Given the description of an element on the screen output the (x, y) to click on. 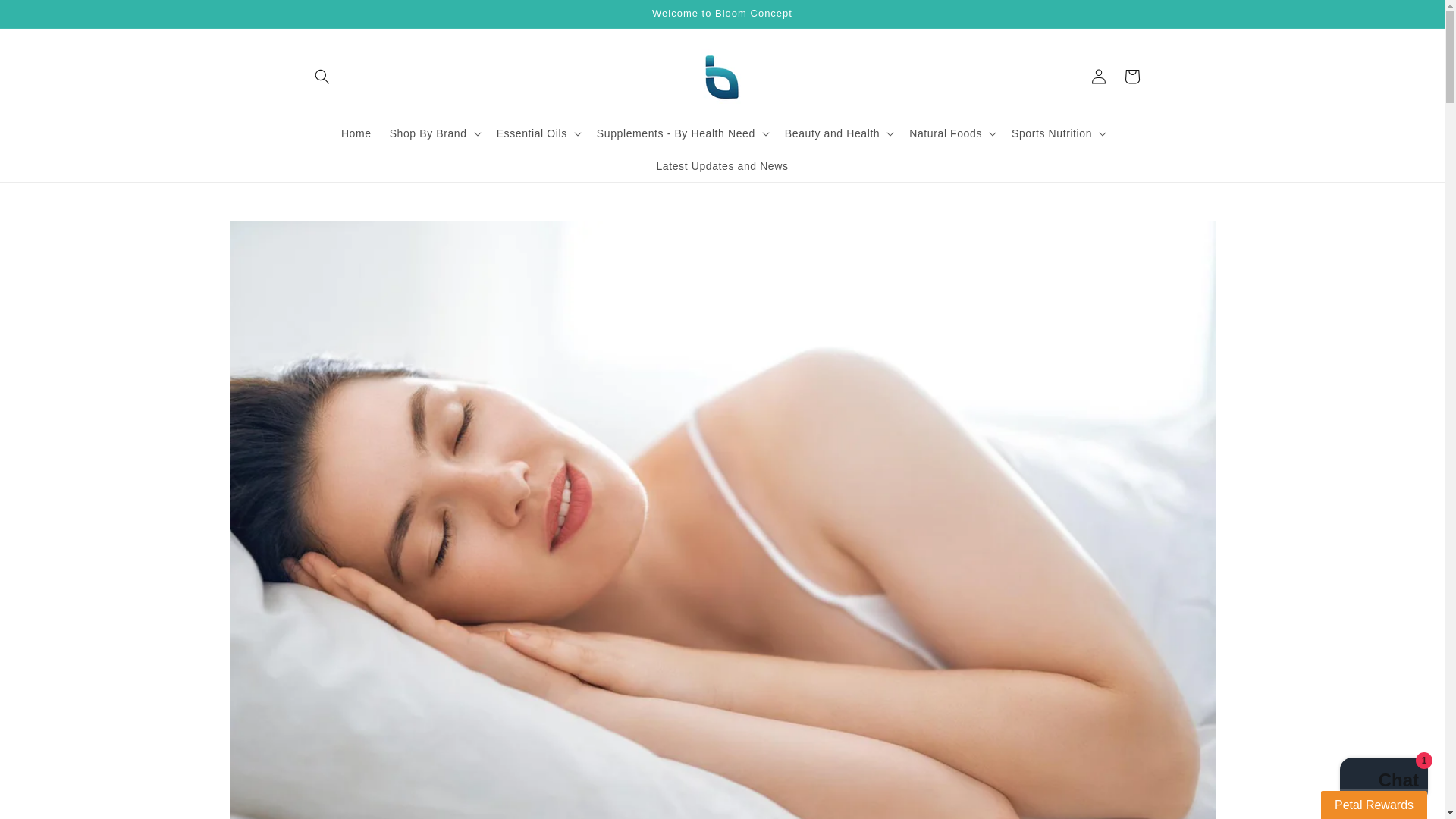
Shopify online store chat (1383, 781)
Skip to content (45, 16)
